Given the description of an element on the screen output the (x, y) to click on. 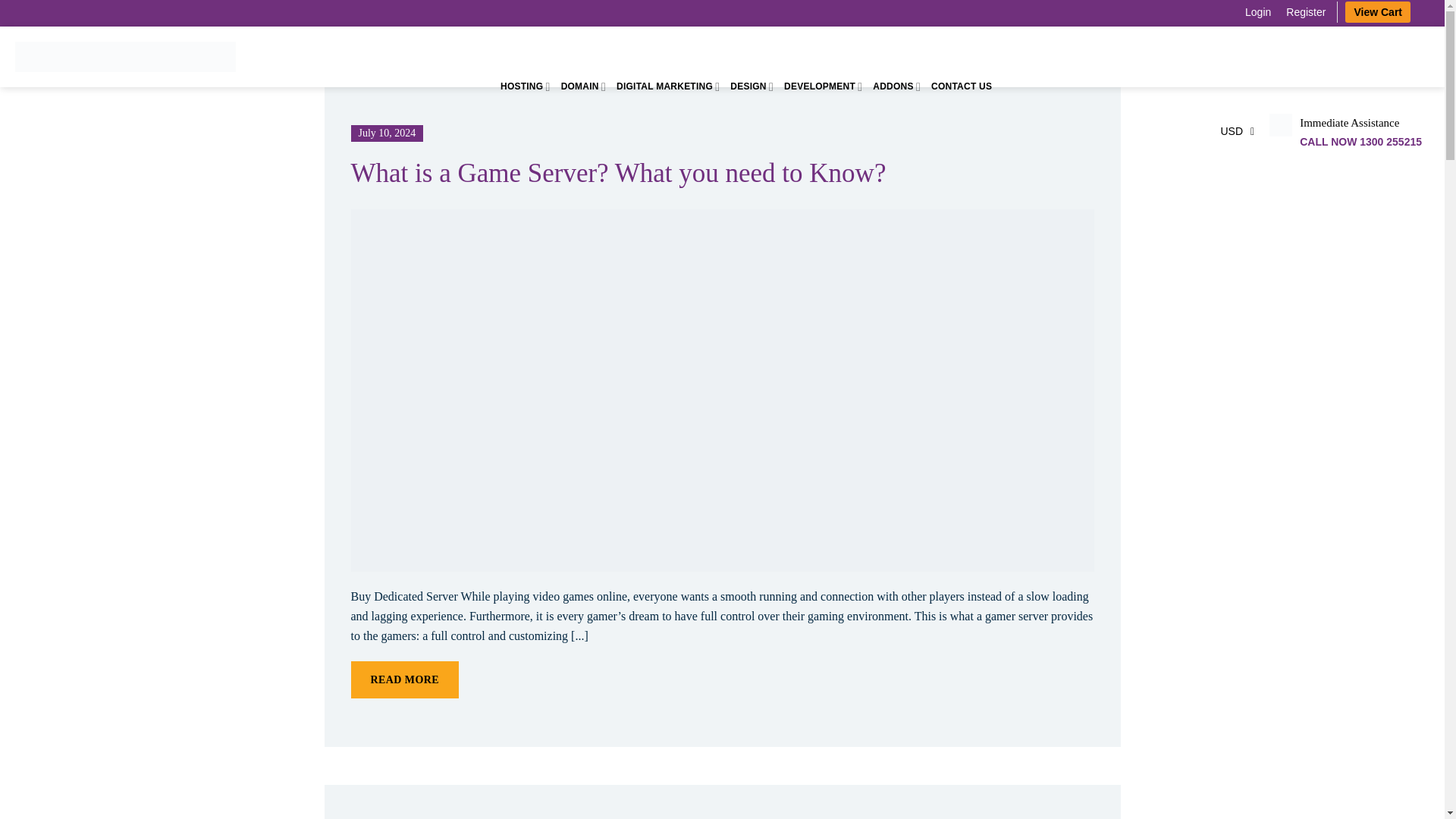
HOSTING (525, 86)
Login (1257, 12)
View Cart (1377, 11)
Register (1305, 12)
DOMAIN (582, 86)
